Given the description of an element on the screen output the (x, y) to click on. 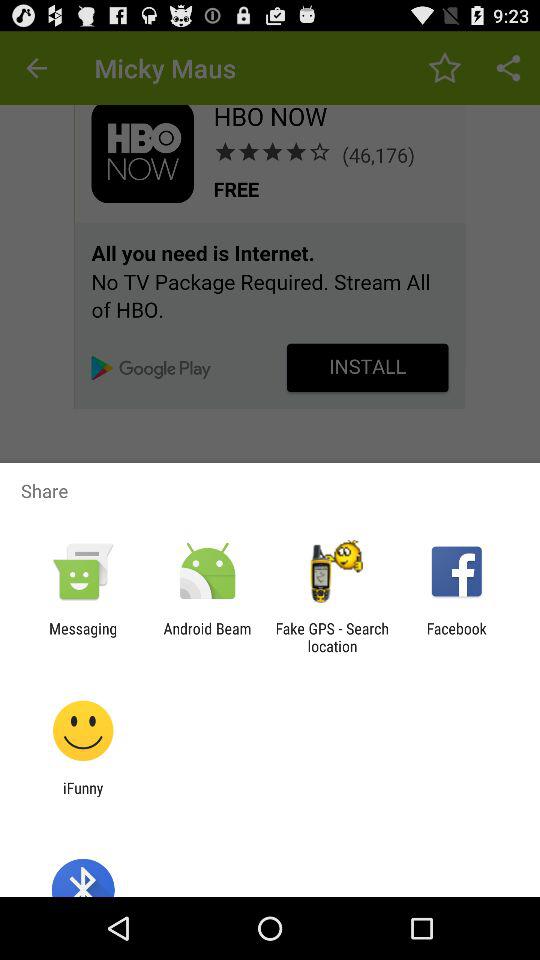
turn on item to the left of fake gps search (207, 637)
